Given the description of an element on the screen output the (x, y) to click on. 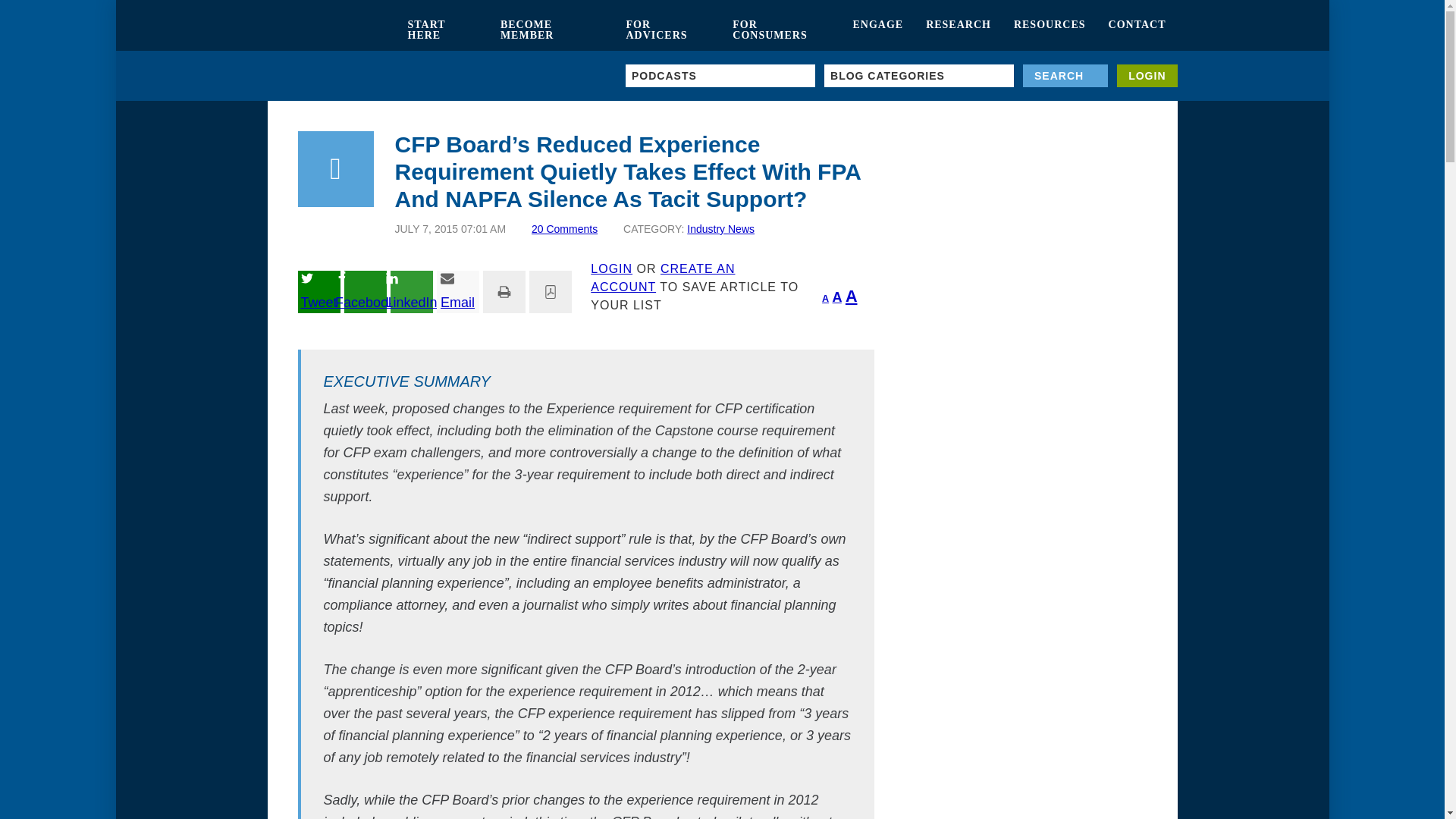
FOR CONSUMERS (780, 30)
CONTACT (1137, 30)
Email (457, 291)
Kitces.com (331, 29)
Share on Twitter (318, 291)
ENGAGE (877, 30)
Share on LinkedIn (411, 291)
Share via Email (457, 291)
Share on Facebook (365, 291)
BECOME MEMBER (551, 30)
